Given the description of an element on the screen output the (x, y) to click on. 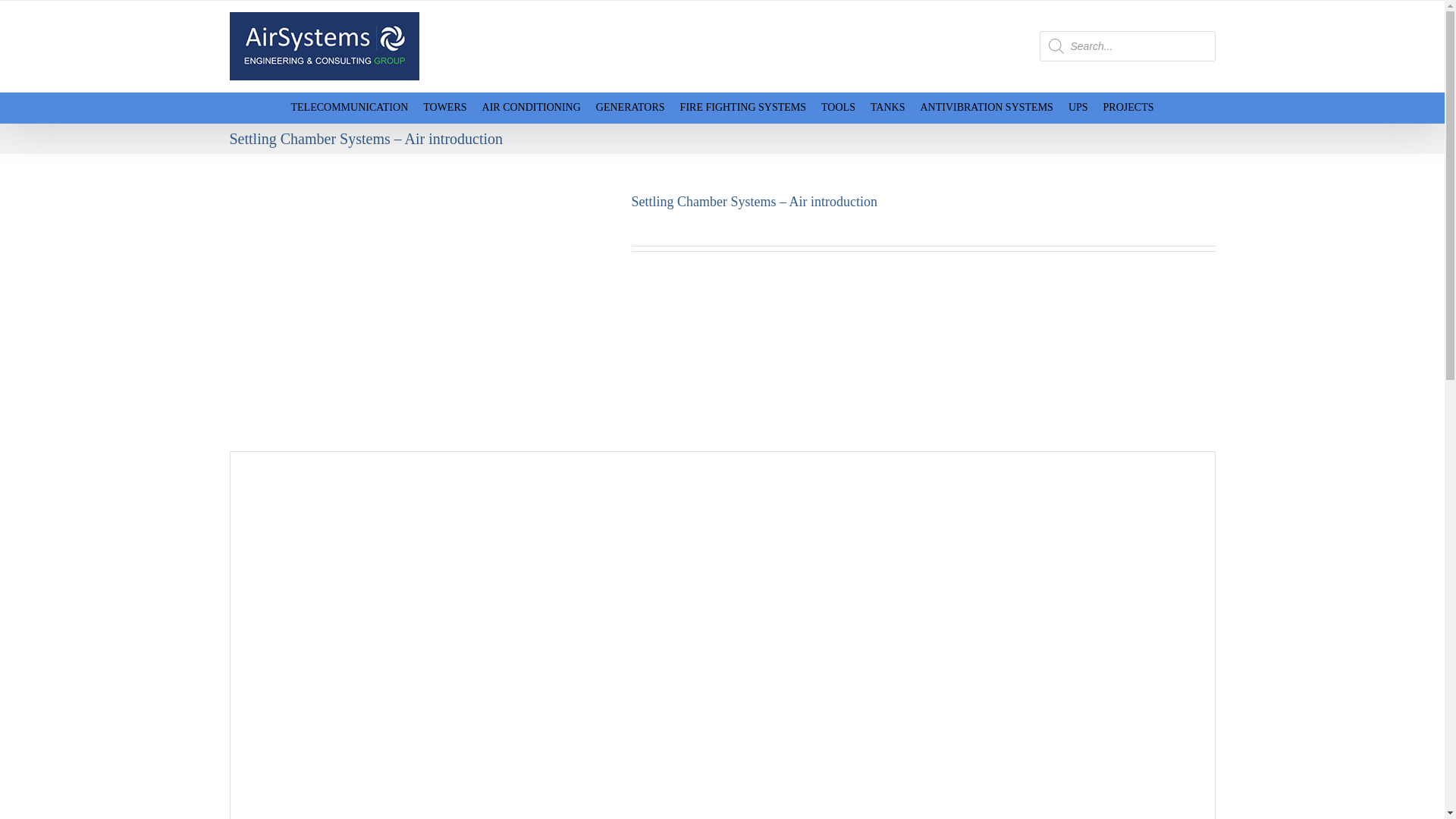
TOWERS (444, 107)
AIR CONDITIONING (530, 107)
TELECOMMUNICATION (348, 107)
